Given the description of an element on the screen output the (x, y) to click on. 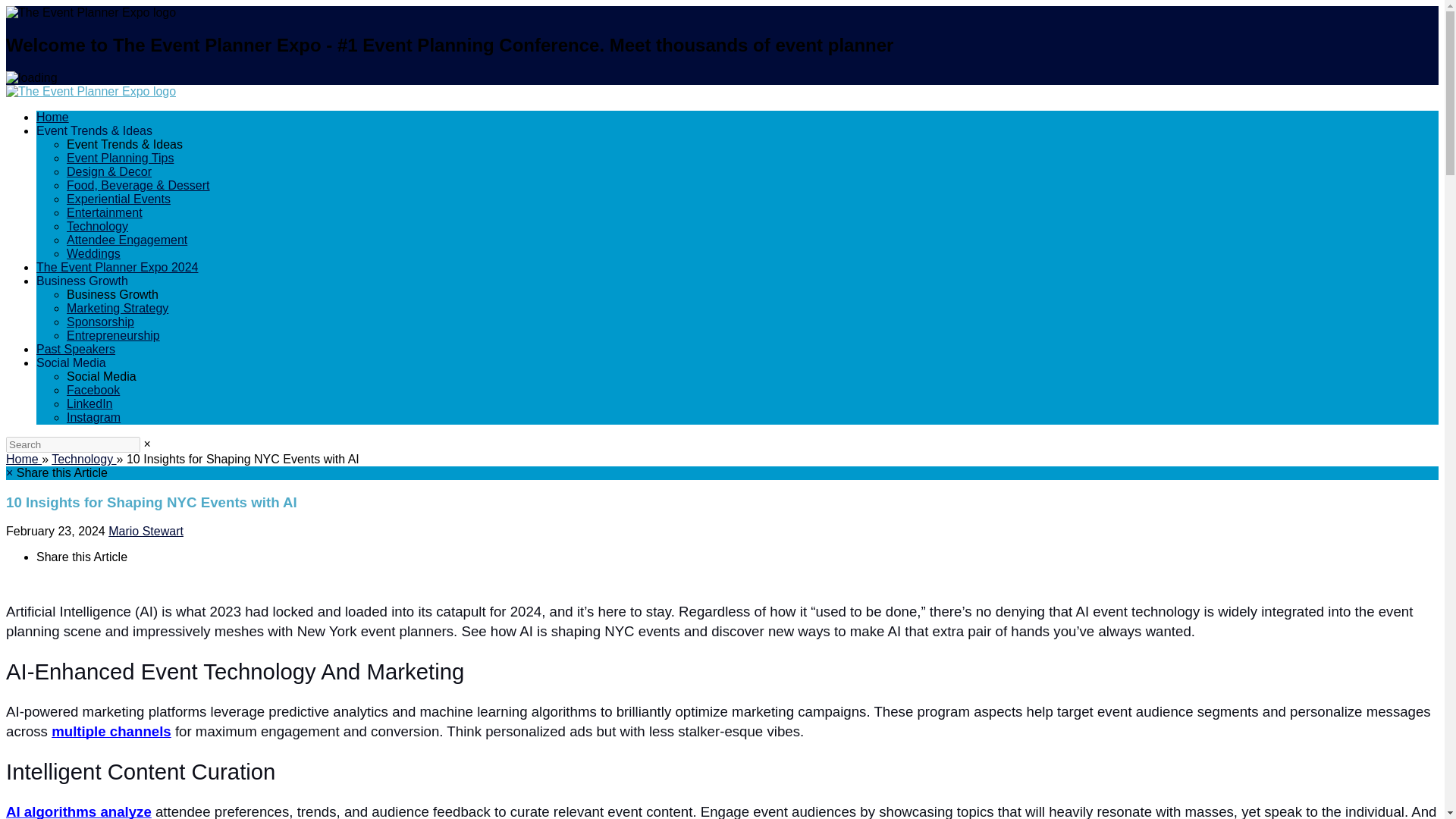
Past Speakers (75, 349)
Home (23, 459)
Marketing Strategy (117, 308)
The Event Planner Expo 2024 (117, 267)
Entertainment (104, 212)
Home (52, 116)
Sponsorship (99, 321)
The Event Planner Expo (90, 91)
Business Growth (82, 280)
Facebook (92, 390)
Mario Stewart (145, 530)
Instagram (93, 417)
AI algorithms analyze (78, 812)
Social Media (71, 362)
multiple channels (110, 731)
